Given the description of an element on the screen output the (x, y) to click on. 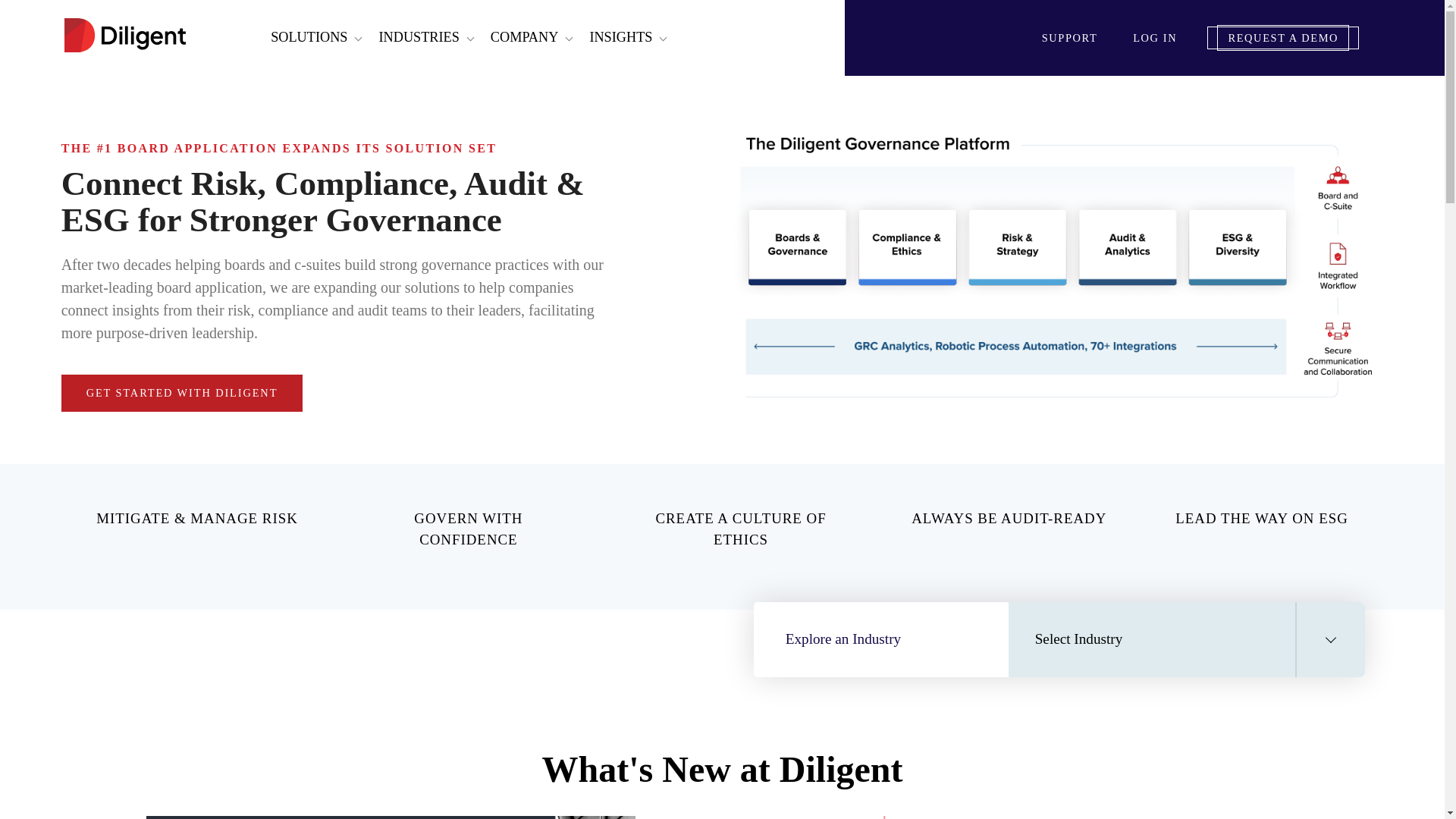
company (524, 37)
HeaderLogo (125, 37)
SOLUTIONS (308, 37)
solutions (308, 37)
Insights (620, 37)
INDUSTRIES (418, 37)
industries (418, 37)
